Given the description of an element on the screen output the (x, y) to click on. 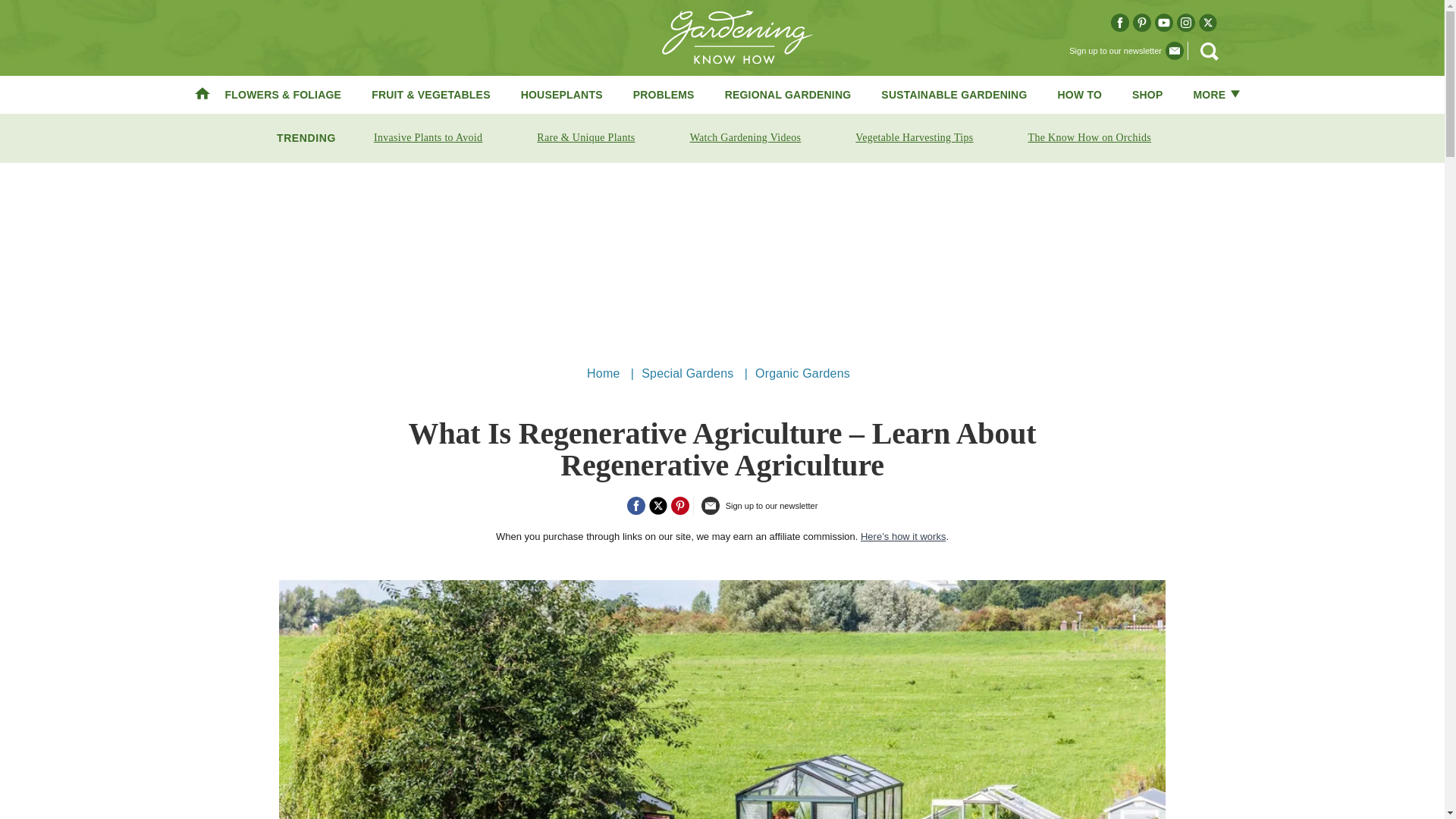
REGIONAL GARDENING (788, 94)
PROBLEMS (663, 94)
SUSTAINABLE GARDENING (953, 94)
HOUSEPLANTS (561, 94)
